Given the description of an element on the screen output the (x, y) to click on. 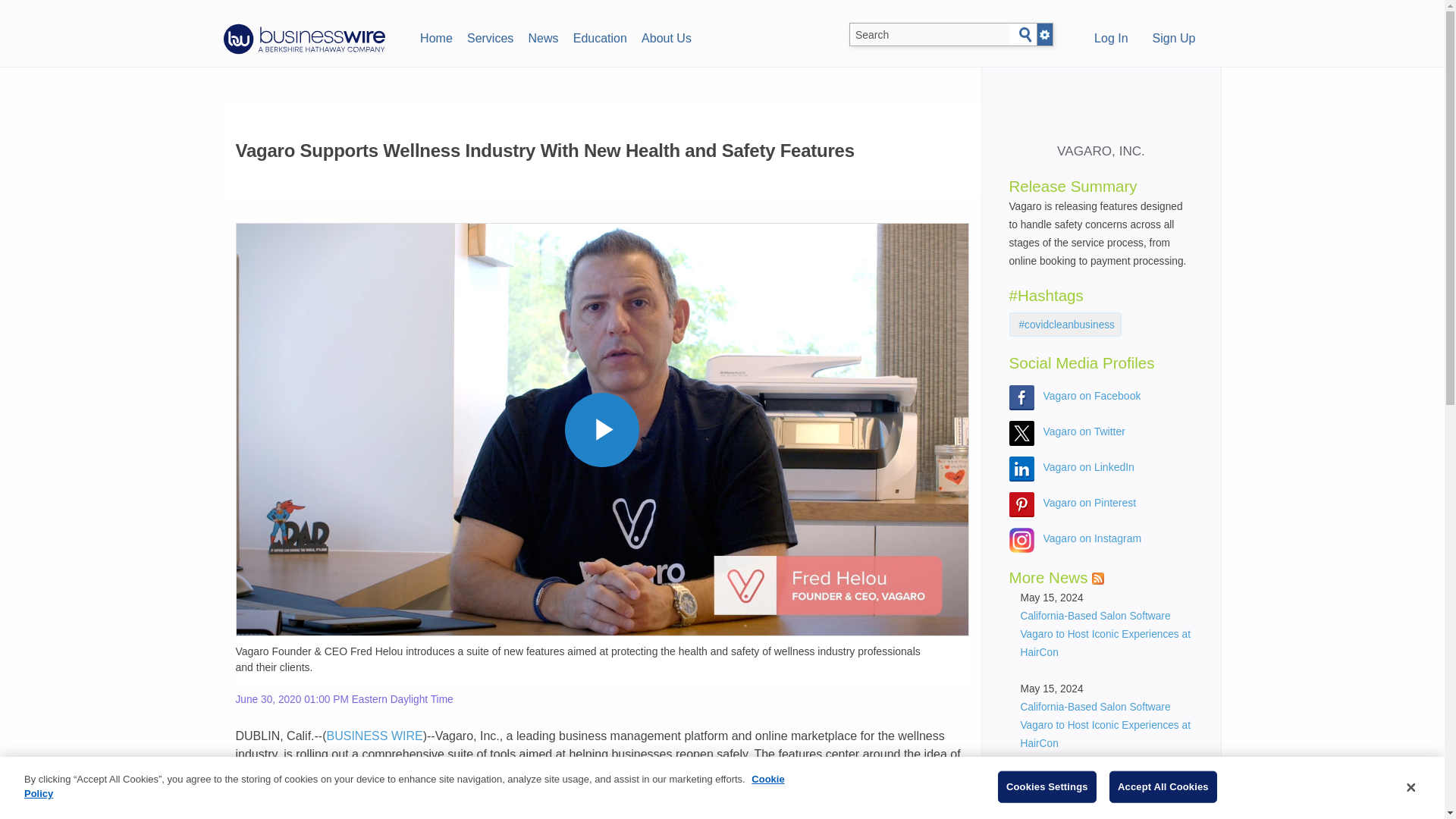
Vagaro on Twitter (1084, 431)
BUSINESS WIRE (374, 735)
Services (490, 36)
Vagaro on Pinterest (1090, 502)
News (543, 36)
Vagaro on Facebook (1092, 395)
Vagaro on LinkedIn (1088, 467)
Vagaro on Instagram (1092, 538)
RSS feed for Vagaro, Inc. (1097, 578)
Search BusinessWire.com (930, 34)
Home (436, 36)
Play Video (601, 429)
Play Video (601, 429)
